Given the description of an element on the screen output the (x, y) to click on. 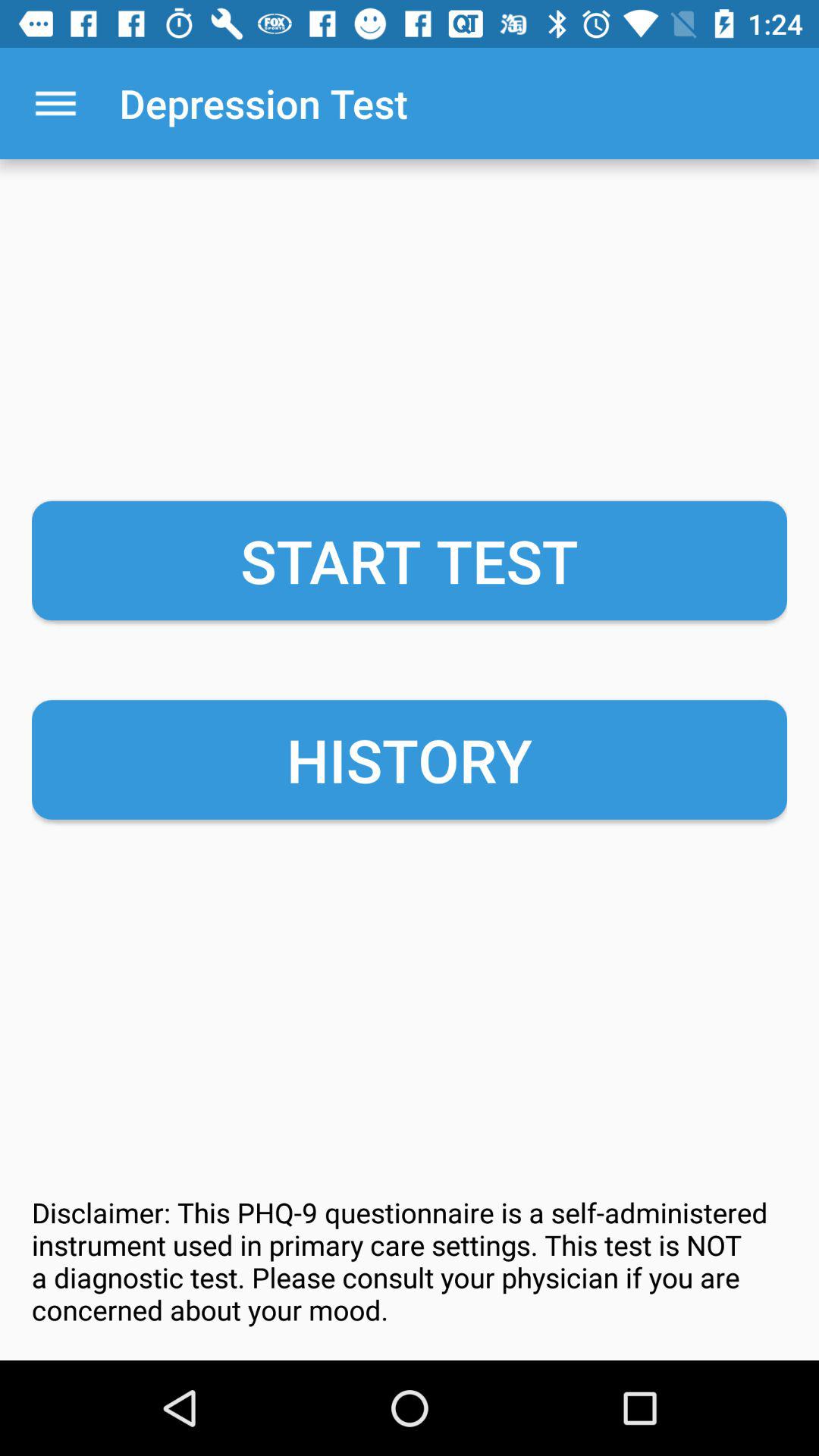
jump until history item (409, 759)
